Given the description of an element on the screen output the (x, y) to click on. 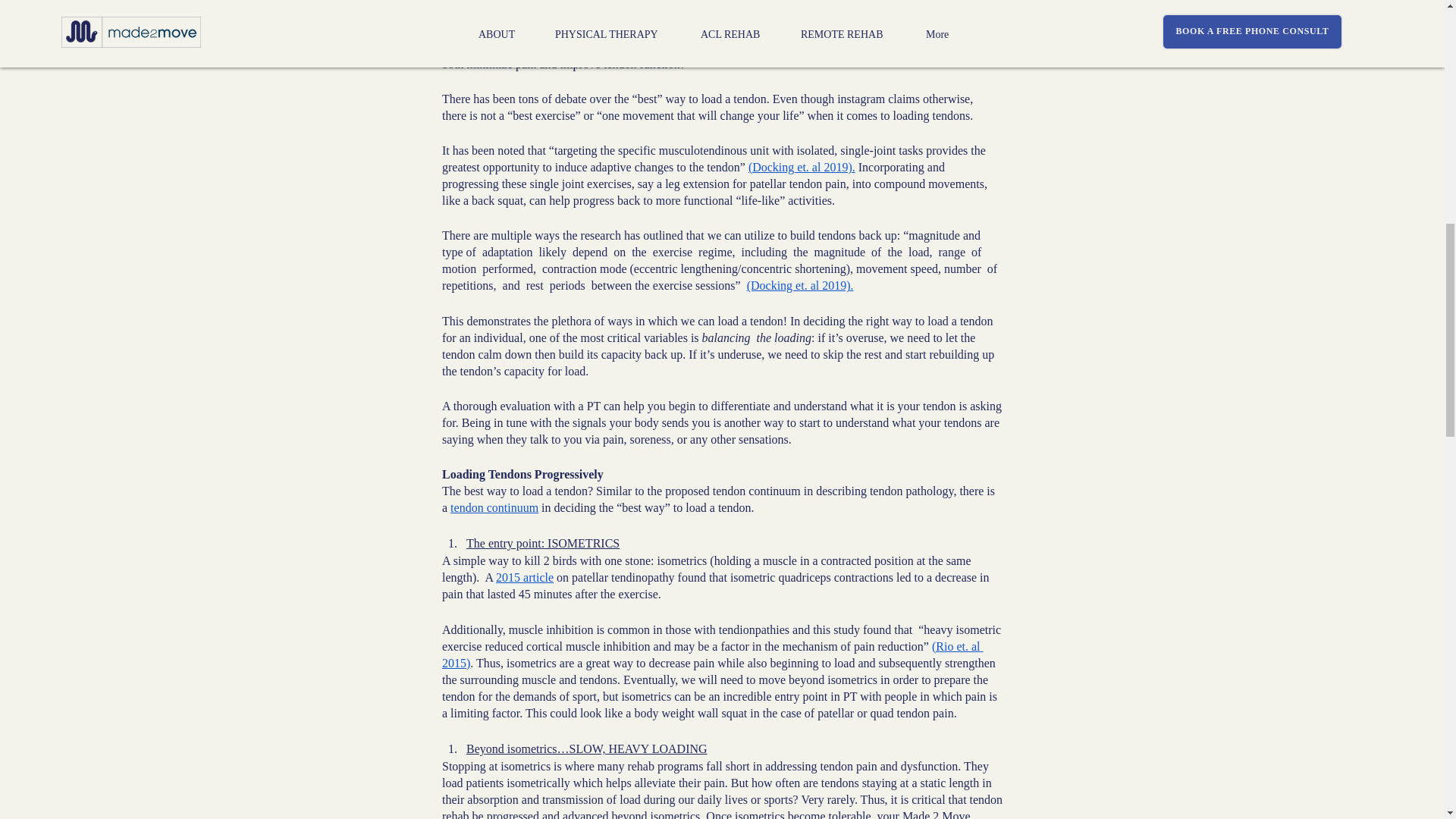
2015 article (524, 576)
tendon continuum (493, 507)
